Given the description of an element on the screen output the (x, y) to click on. 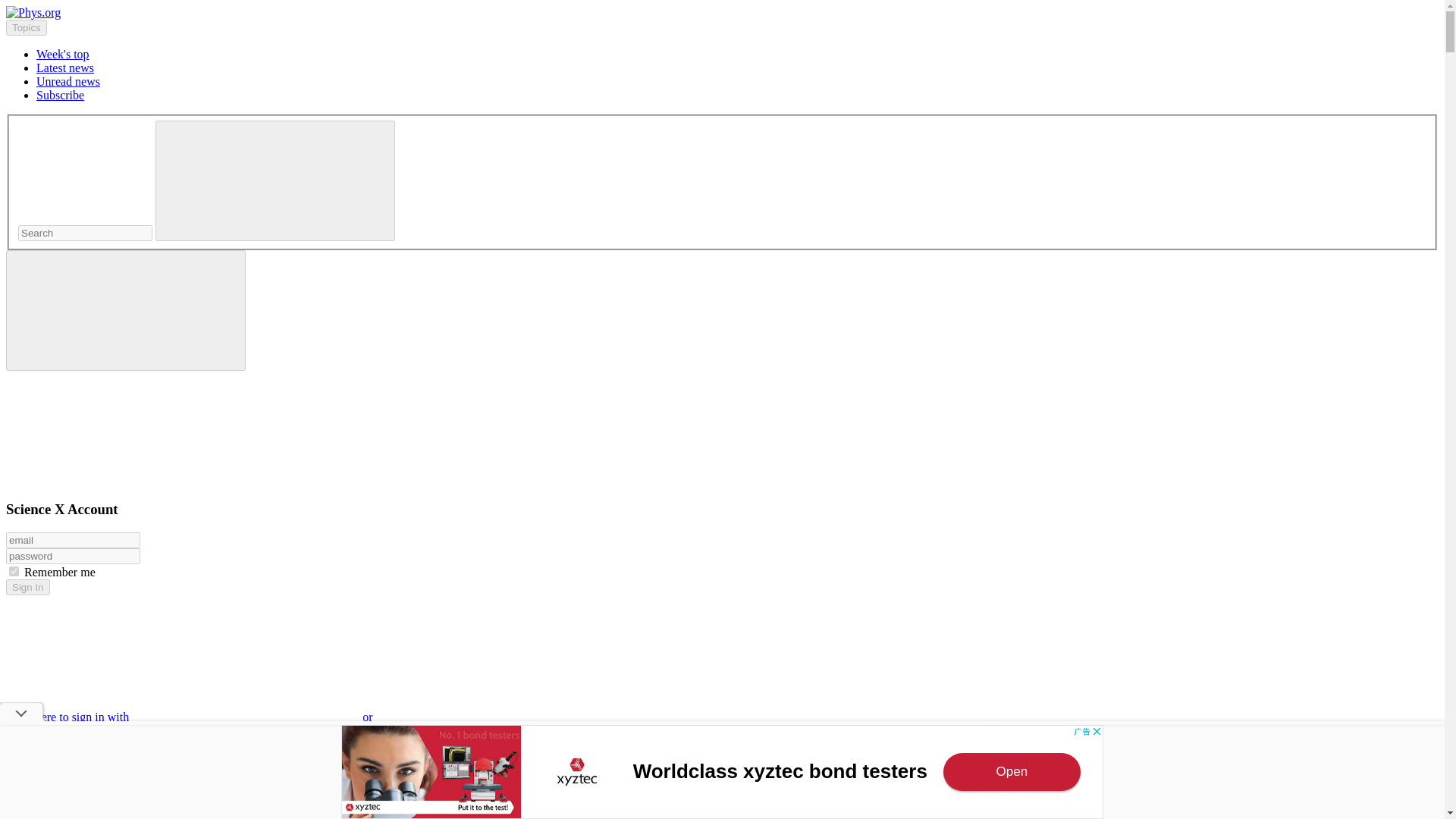
Learn more (33, 793)
on (13, 571)
Nanotechnology (76, 816)
Week's top (62, 53)
Advertisement (721, 771)
Latest news (65, 67)
Subscribe (60, 94)
Forget Password? (49, 742)
Click here to sign in with or (304, 716)
Not a member? Sign up (64, 768)
Topics (25, 27)
Unread news (68, 81)
Sign In (27, 587)
